Given the description of an element on the screen output the (x, y) to click on. 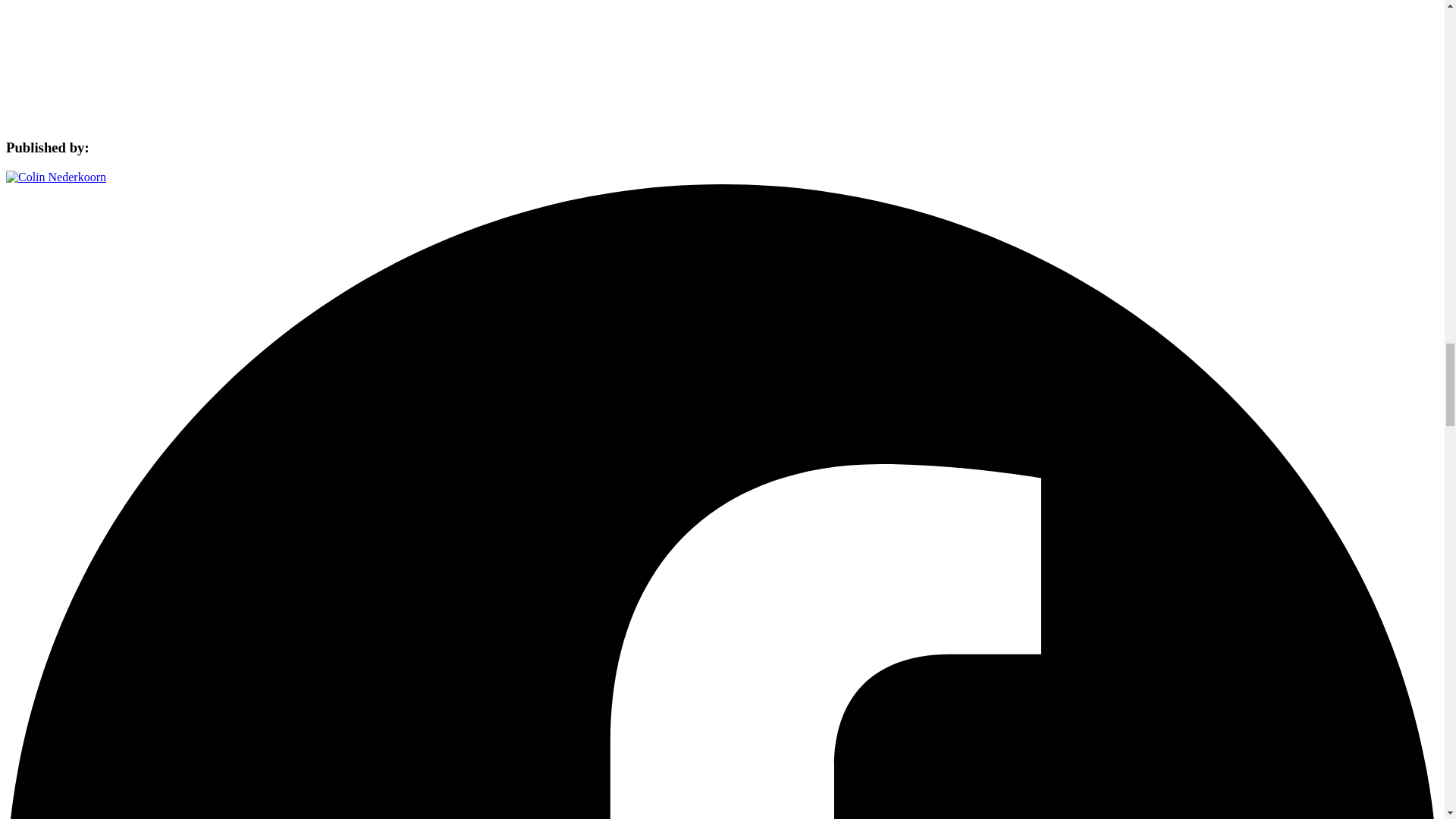
Colin Nederkoorn (55, 176)
